Given the description of an element on the screen output the (x, y) to click on. 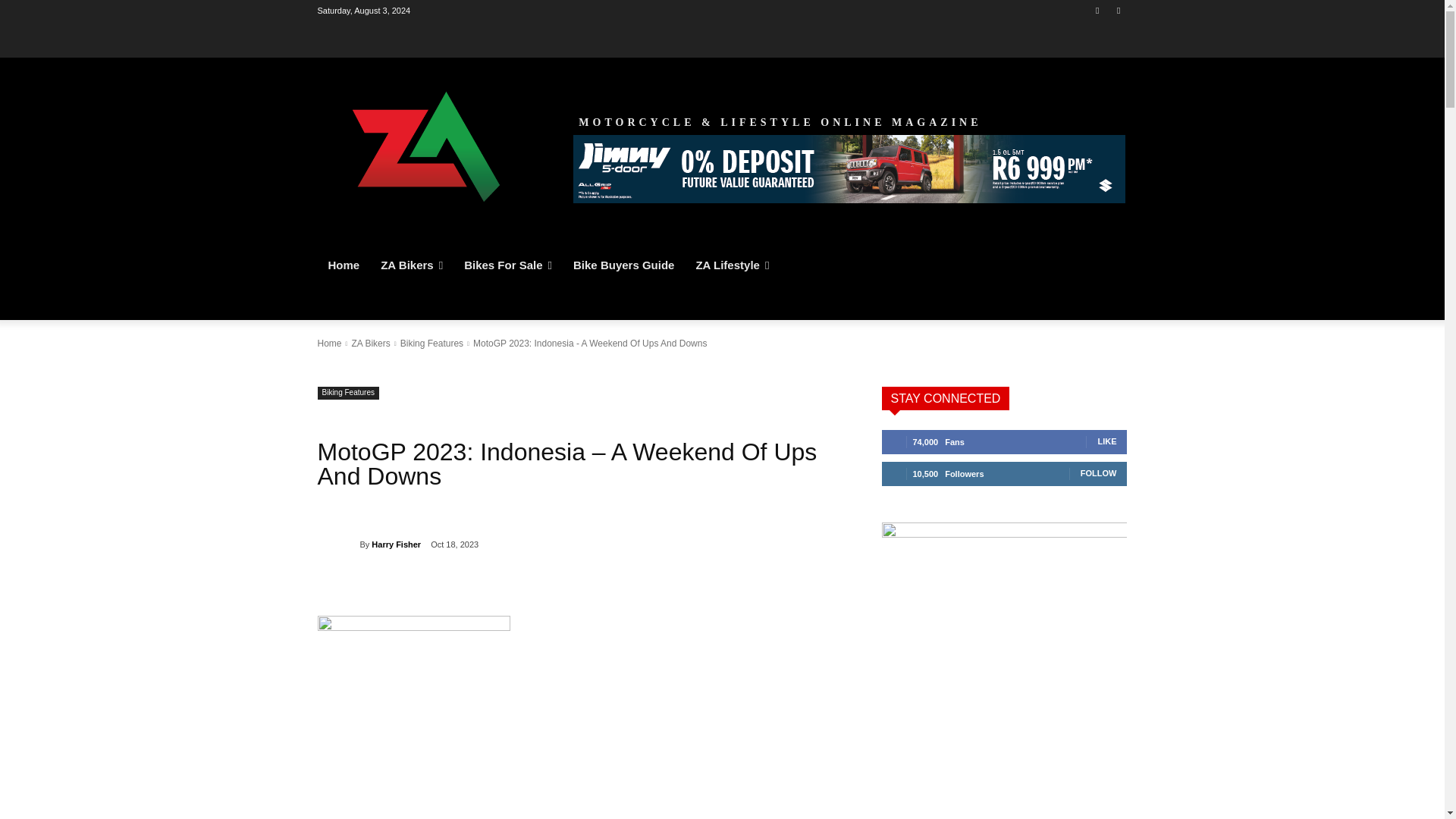
Home (343, 265)
Facebook (1097, 9)
ZA Bikers (410, 265)
Instagram (1117, 9)
